Given the description of an element on the screen output the (x, y) to click on. 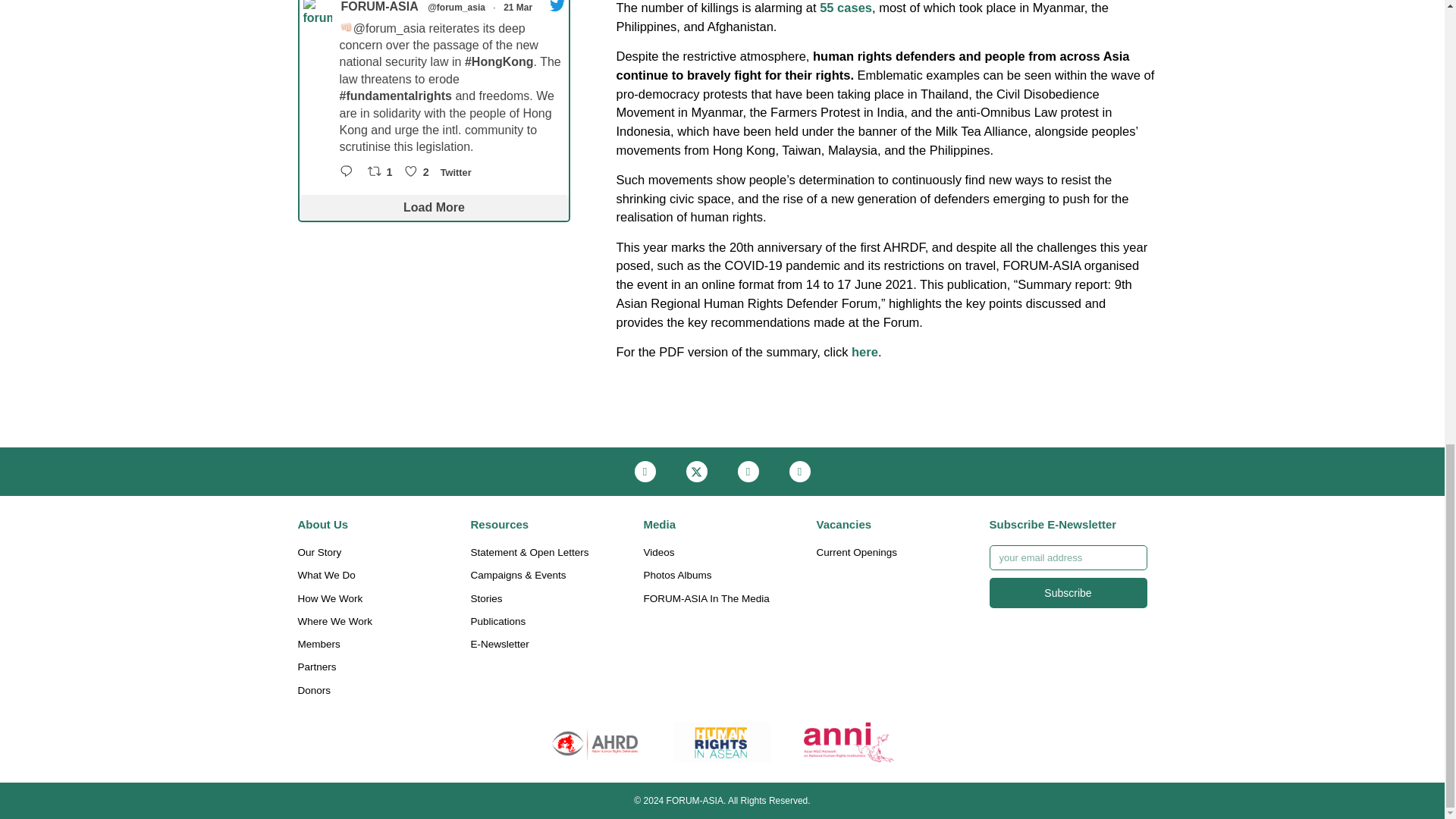
Default Title (595, 741)
Default Title (848, 741)
Default Title (722, 741)
